Given the description of an element on the screen output the (x, y) to click on. 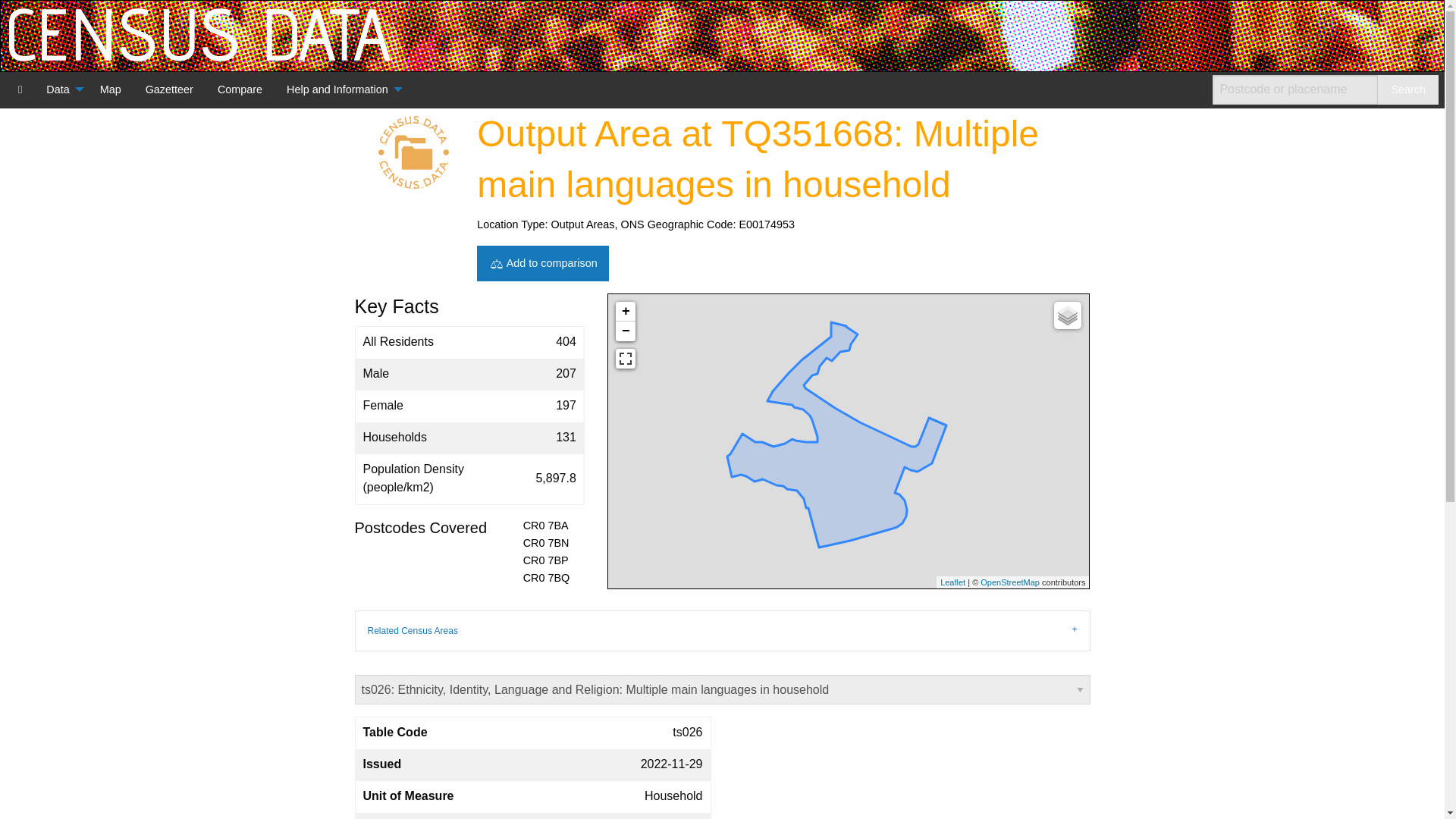
Help and Information (340, 90)
Zoom out (624, 331)
Search (1407, 89)
Leaflet (952, 582)
Related Census Areas (722, 630)
Census Data (19, 90)
Data (60, 90)
Layers (1067, 315)
A JS library for interactive maps (952, 582)
View Fullscreen (624, 358)
Search (1407, 89)
Compare (240, 90)
Add to comparison (542, 262)
OpenStreetMap (1009, 582)
Gazetteer (169, 90)
